Given the description of an element on the screen output the (x, y) to click on. 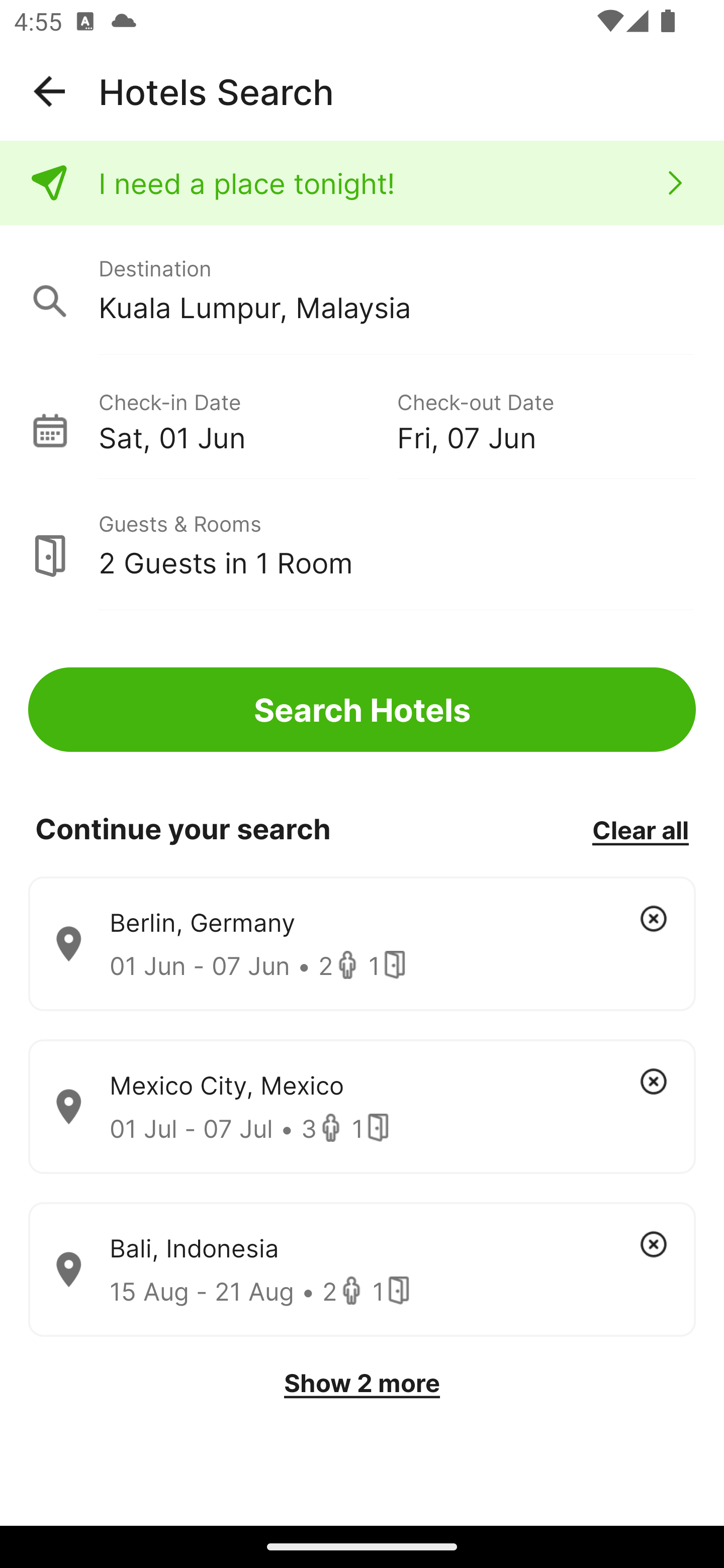
I need a place tonight! (362, 183)
Destination Kuala Lumpur, Malaysia (362, 290)
Check-in Date Sat, 01 Jun (247, 418)
Check-out Date Fri, 07 Jun (546, 418)
Guests & Rooms 2 Guests in 1 Room (362, 545)
Search Hotels (361, 709)
Clear all (640, 829)
Berlin, Germany 01 Jun - 07 Jun • 2  1  (361, 943)
Mexico City, Mexico 01 Jul - 07 Jul • 3  1  (361, 1106)
Bali, Indonesia 15 Aug - 21 Aug • 2  1  (361, 1269)
Show 2 more (362, 1382)
